Given the description of an element on the screen output the (x, y) to click on. 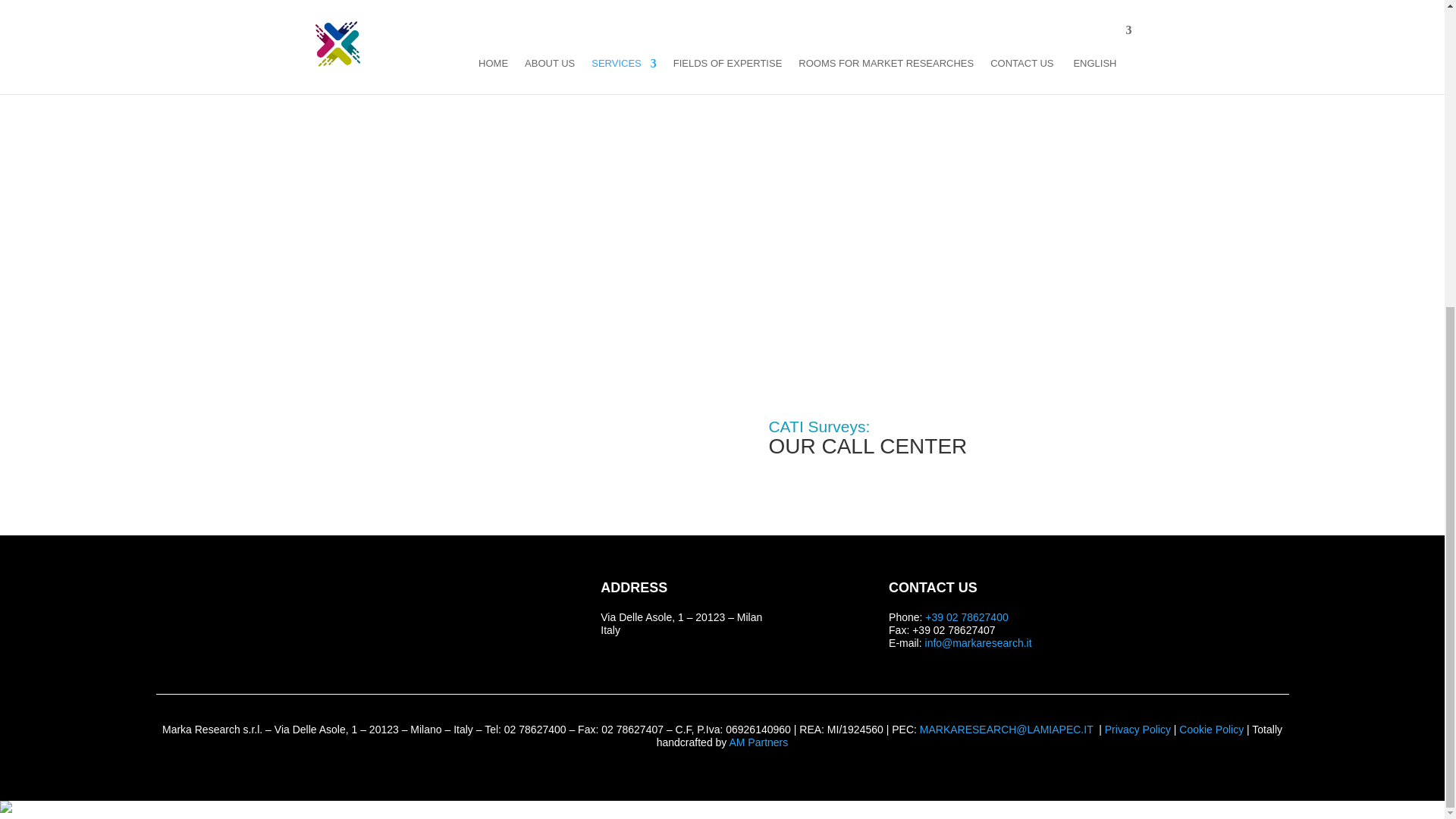
Cookie Policy (1211, 729)
Privacy Policy (1137, 729)
AM Partners (758, 742)
MARKA (412, 608)
